Given the description of an element on the screen output the (x, y) to click on. 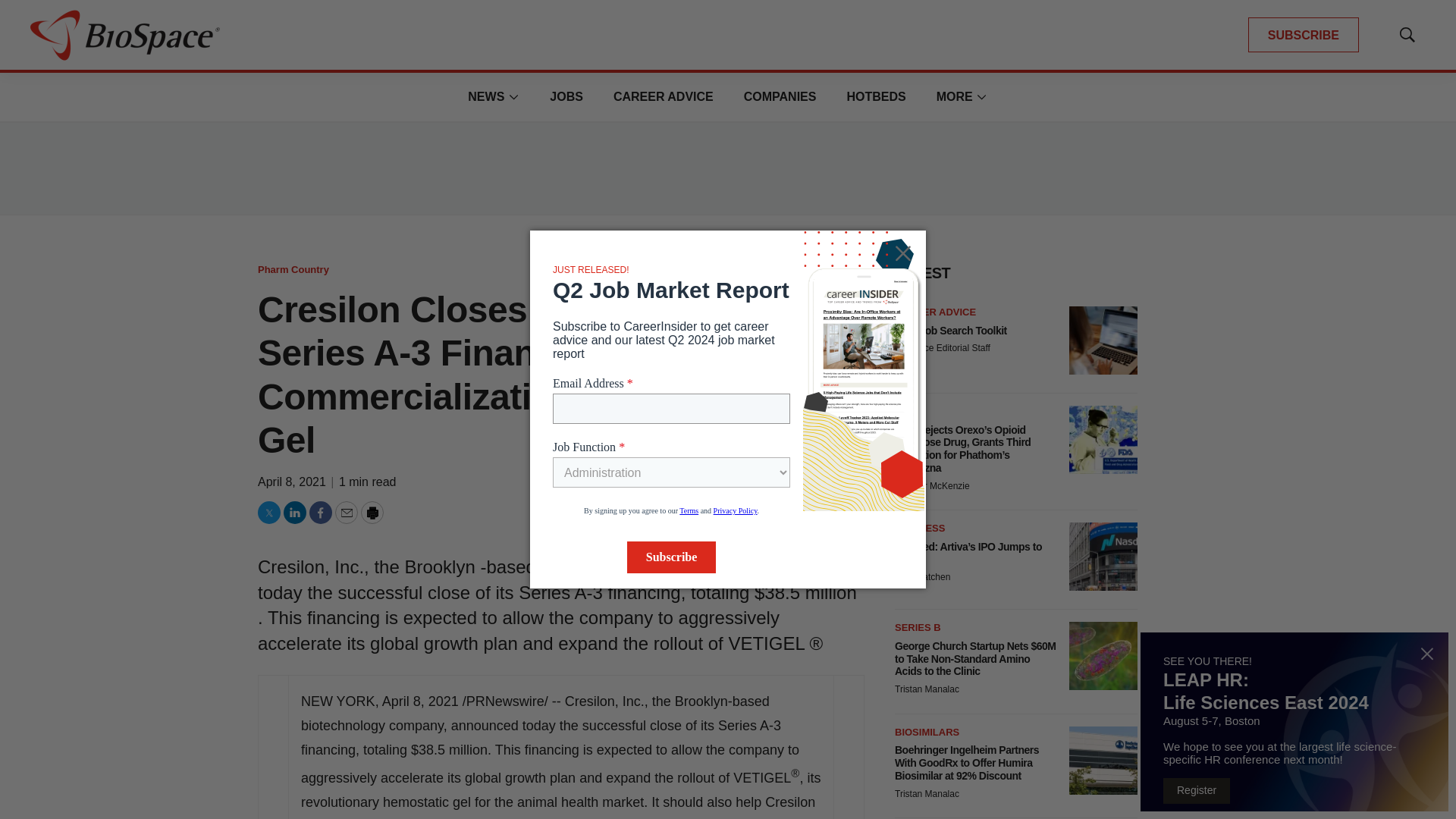
3rd party ad content (727, 168)
Popup CTA (1294, 721)
NEWS (485, 96)
SUBSCRIBE (1302, 34)
Show Search (1407, 34)
